Given the description of an element on the screen output the (x, y) to click on. 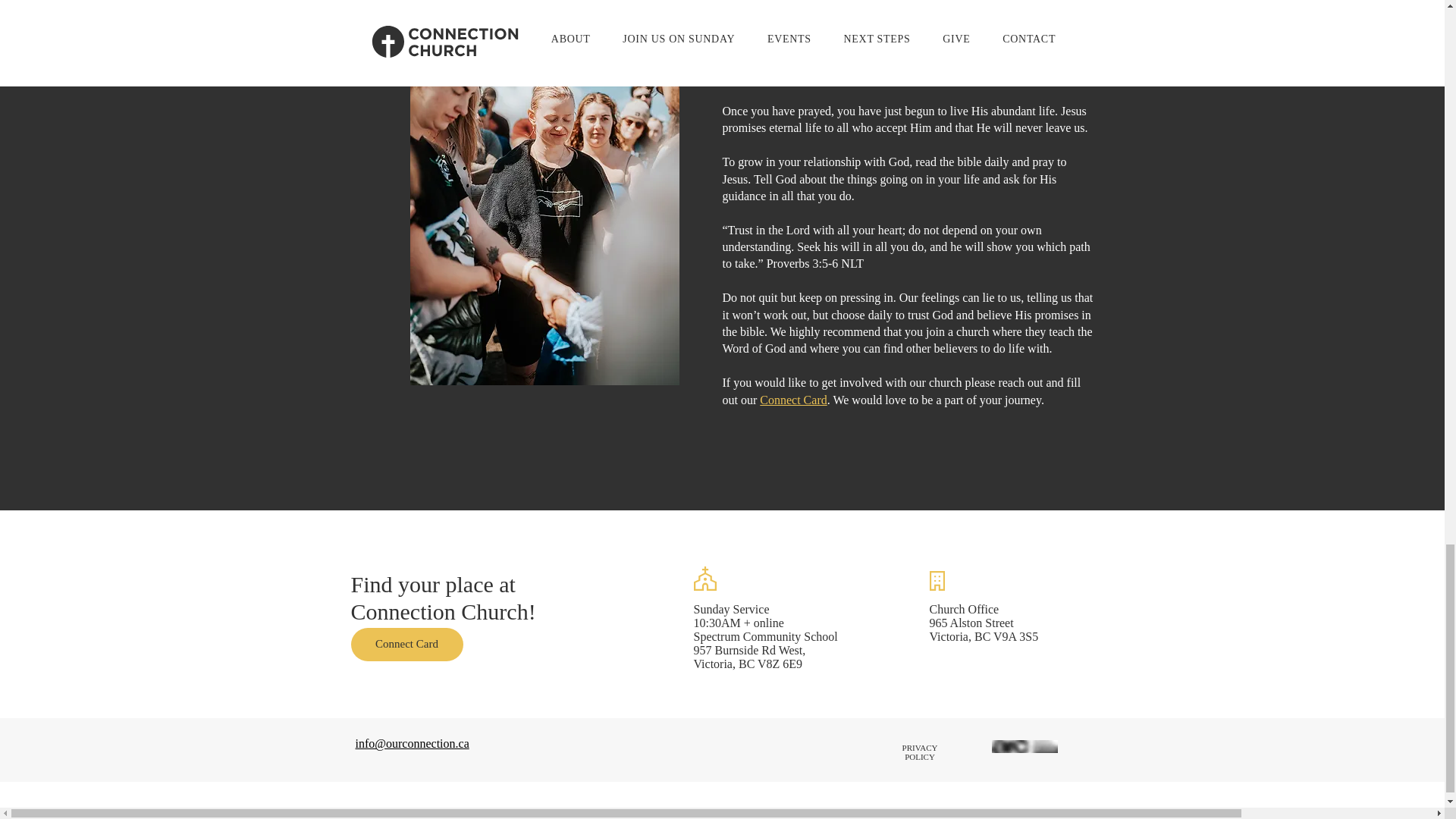
Connect Card (406, 644)
Connect Card (793, 399)
PRIVACY POLICY (919, 751)
